Given the description of an element on the screen output the (x, y) to click on. 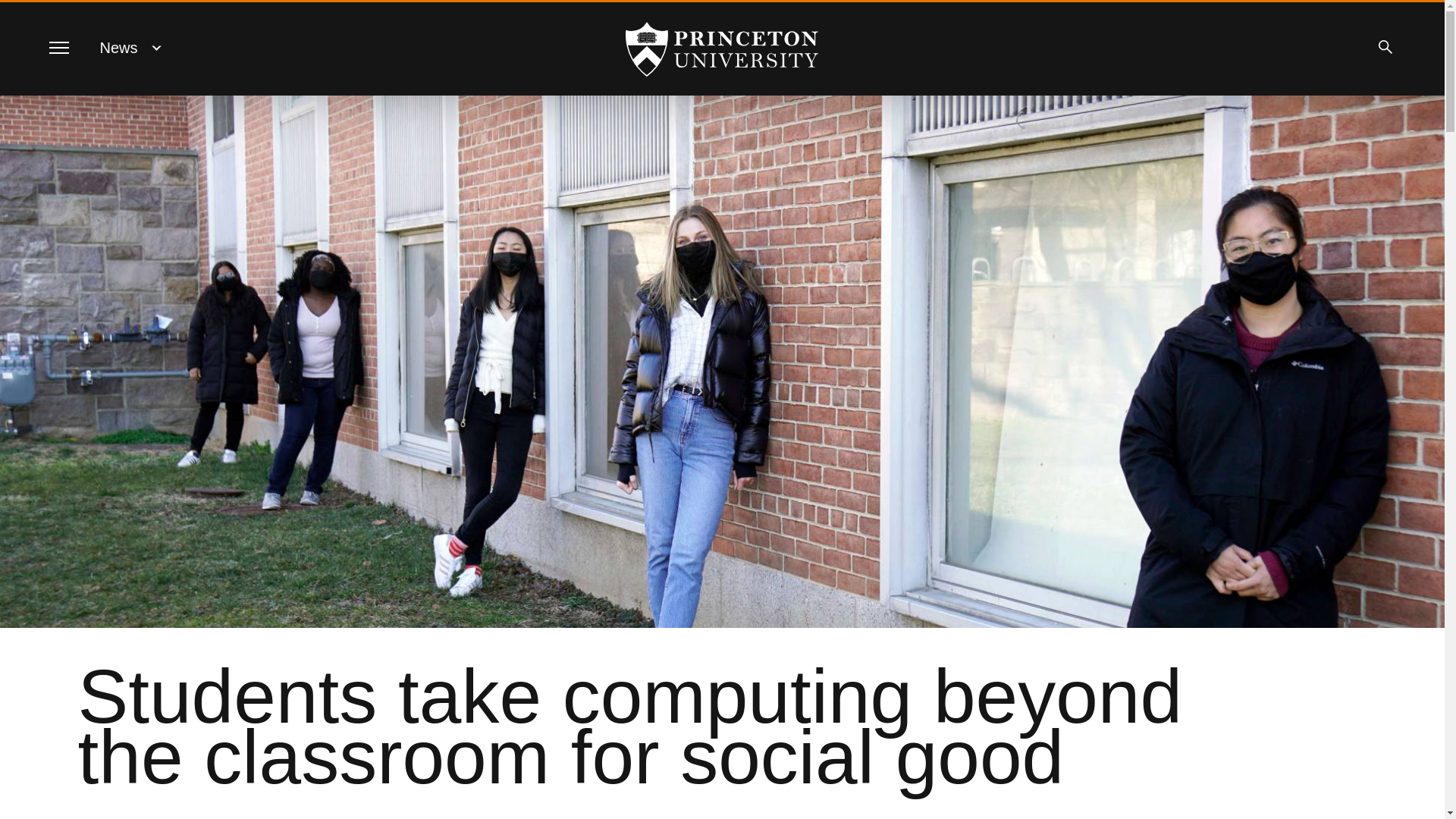
Princeton University (722, 49)
Search (1384, 47)
Menu (57, 47)
News (119, 47)
Home (722, 49)
SKIP TO MAIN CONTENT (22, 13)
